Given the description of an element on the screen output the (x, y) to click on. 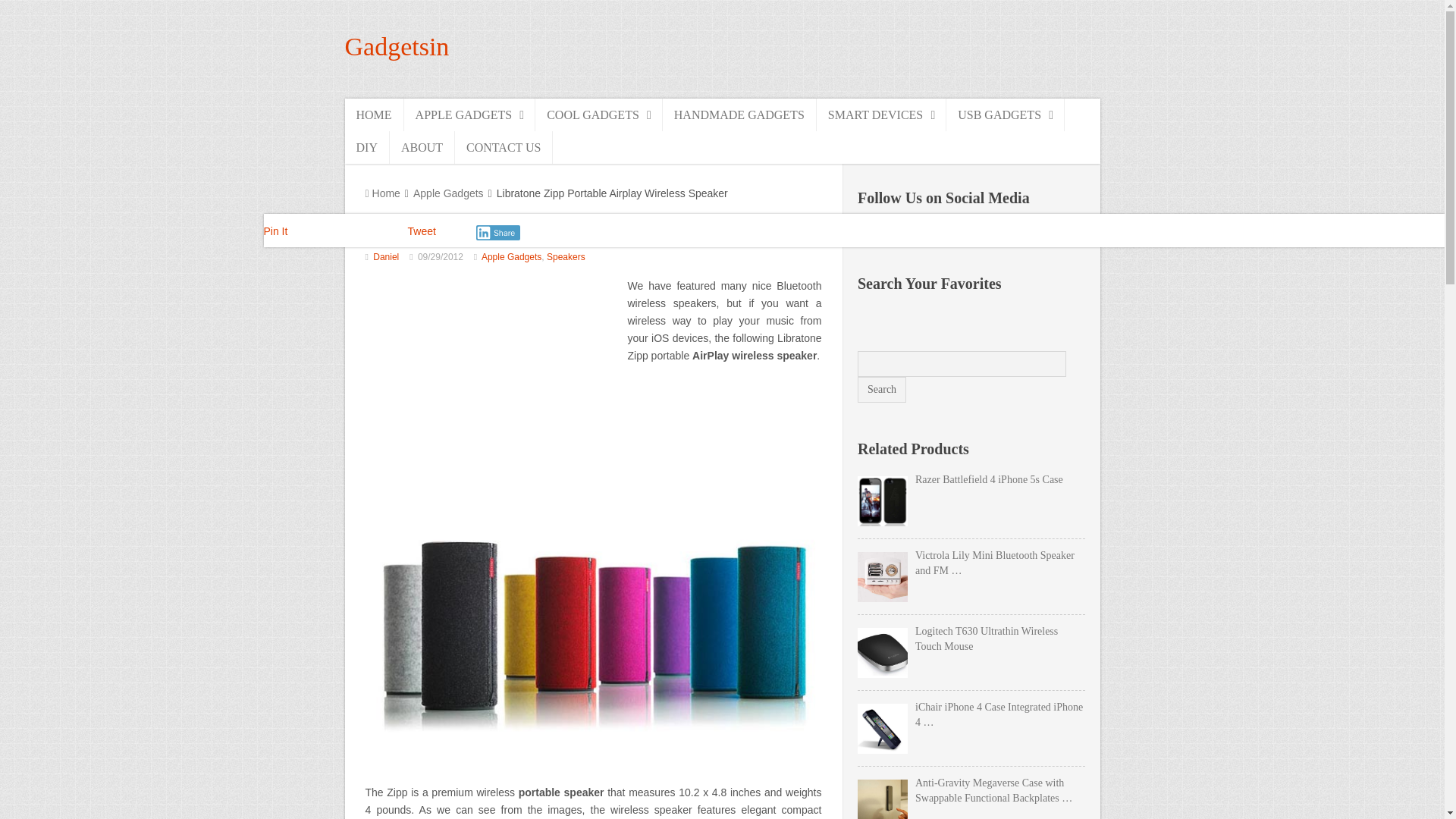
Instagram (936, 233)
APPLE GADGETS (469, 114)
View all posts in Speakers (566, 256)
Apple Gadgets (448, 193)
HOME (373, 114)
Tweet (421, 231)
Search (881, 389)
Speakers (566, 256)
DIY (365, 147)
SMART DEVICES (881, 114)
ABOUT (422, 147)
CONTACT US (503, 147)
Posts by Daniel (385, 256)
Facebook (870, 233)
